Given the description of an element on the screen output the (x, y) to click on. 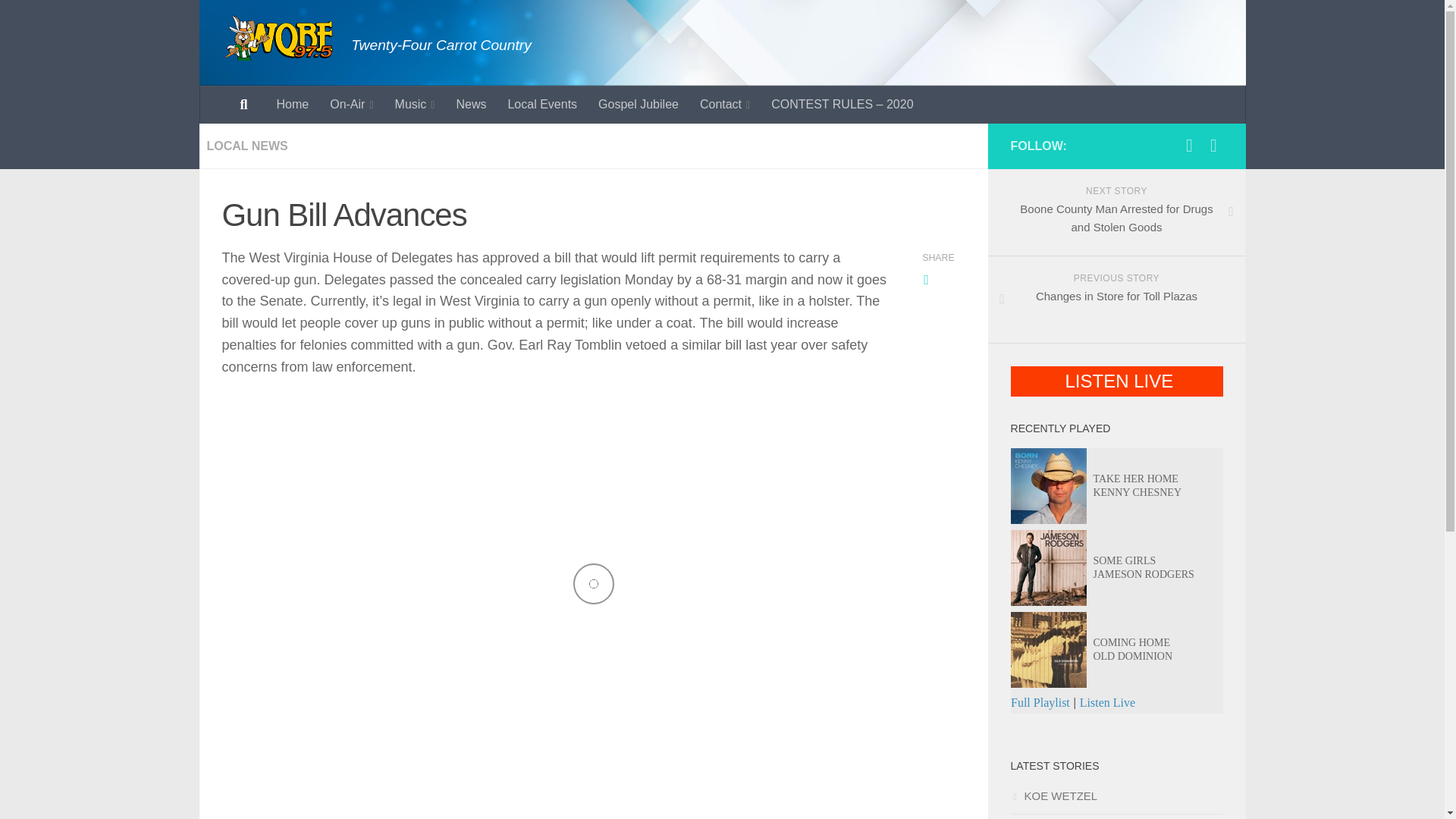
On-Air (351, 104)
Gospel Jubilee (638, 104)
Local Events (542, 104)
Follow us on Facebook (1188, 145)
Contact (724, 104)
Home (291, 104)
Follow us on Twitter (1213, 145)
Music (414, 104)
News (470, 104)
